Given the description of an element on the screen output the (x, y) to click on. 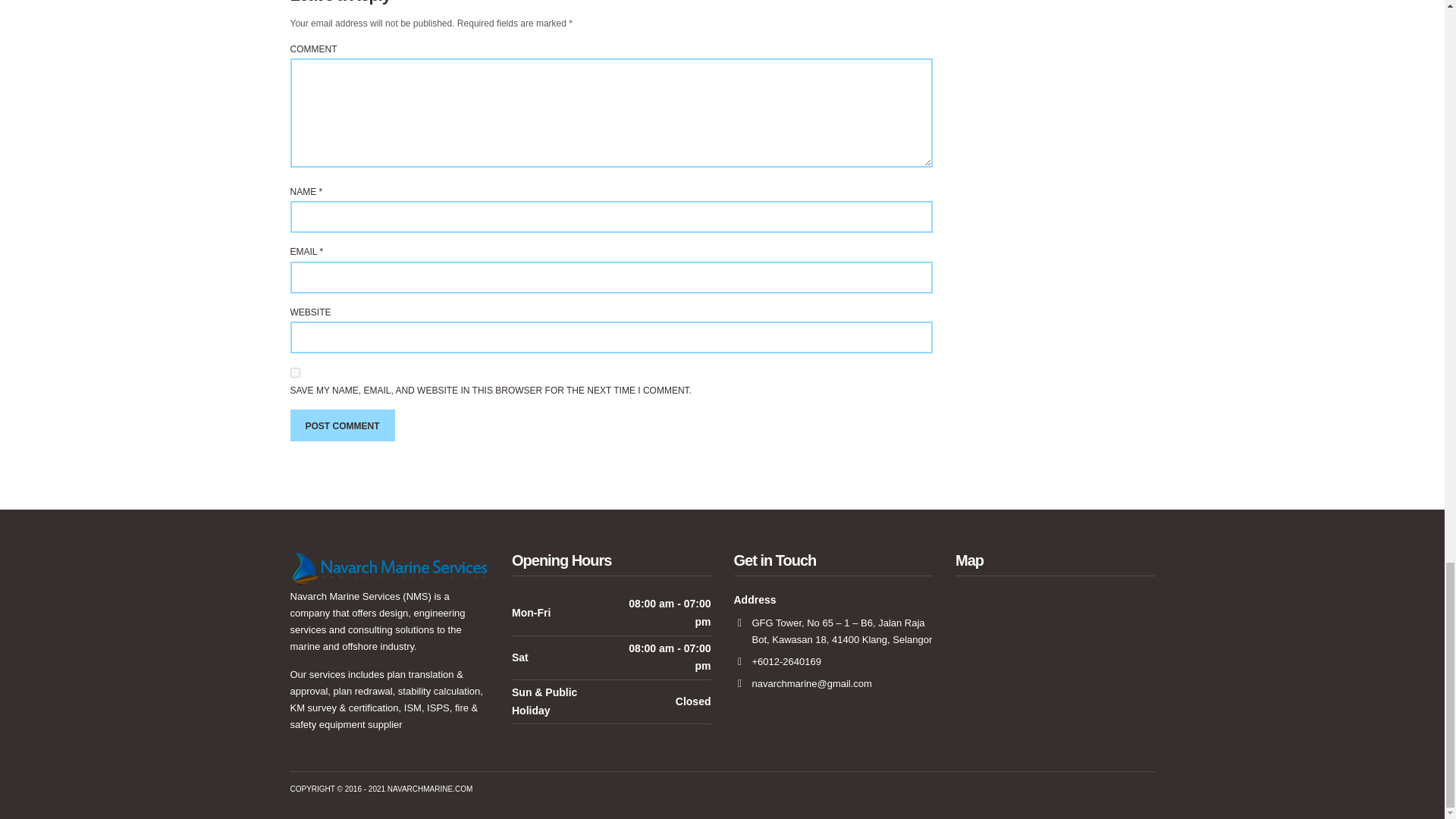
yes (294, 372)
Post Comment (341, 425)
Post Comment (341, 425)
